Given the description of an element on the screen output the (x, y) to click on. 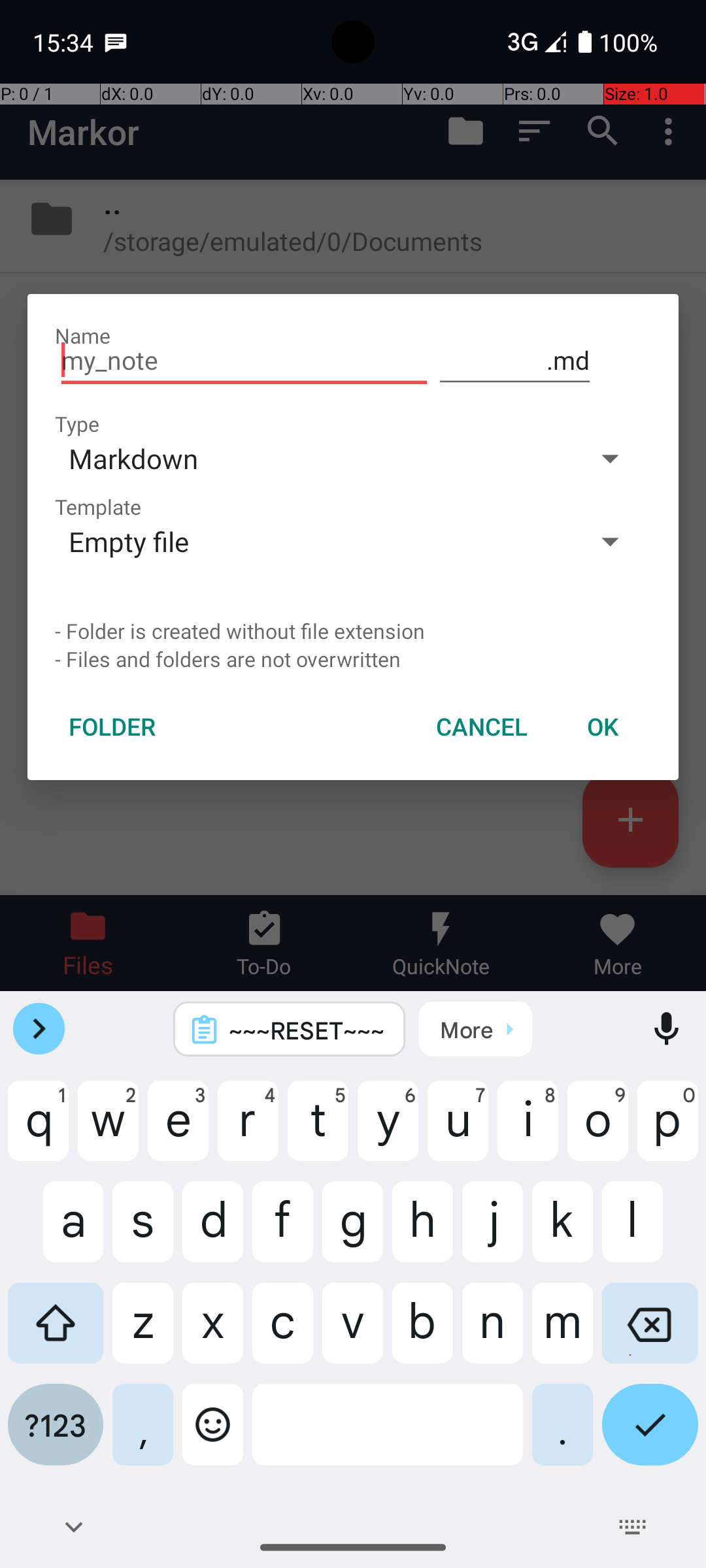
.md Element type: android.widget.EditText (514, 360)
~~~RESET~~~ Element type: android.widget.TextView (306, 1029)
